Given the description of an element on the screen output the (x, y) to click on. 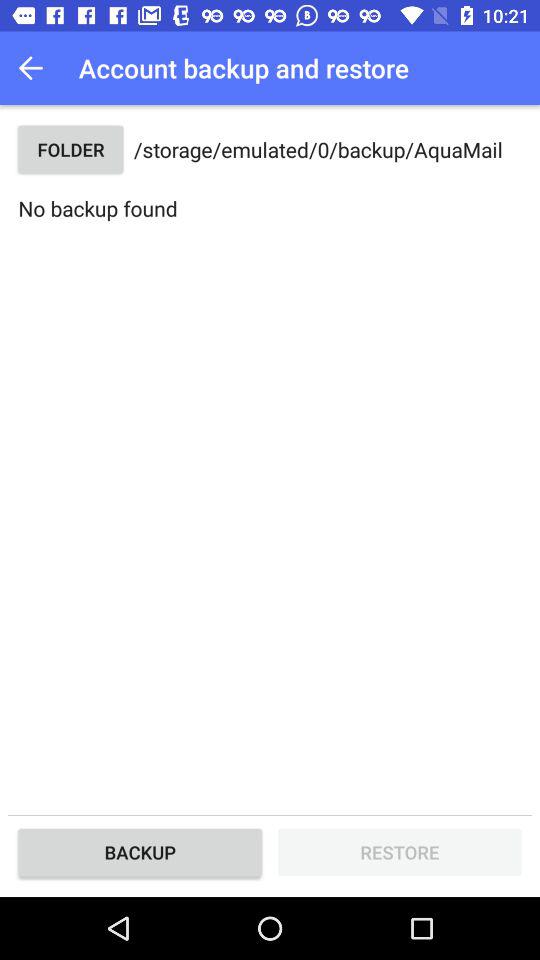
turn off the button above the folder (36, 68)
